Given the description of an element on the screen output the (x, y) to click on. 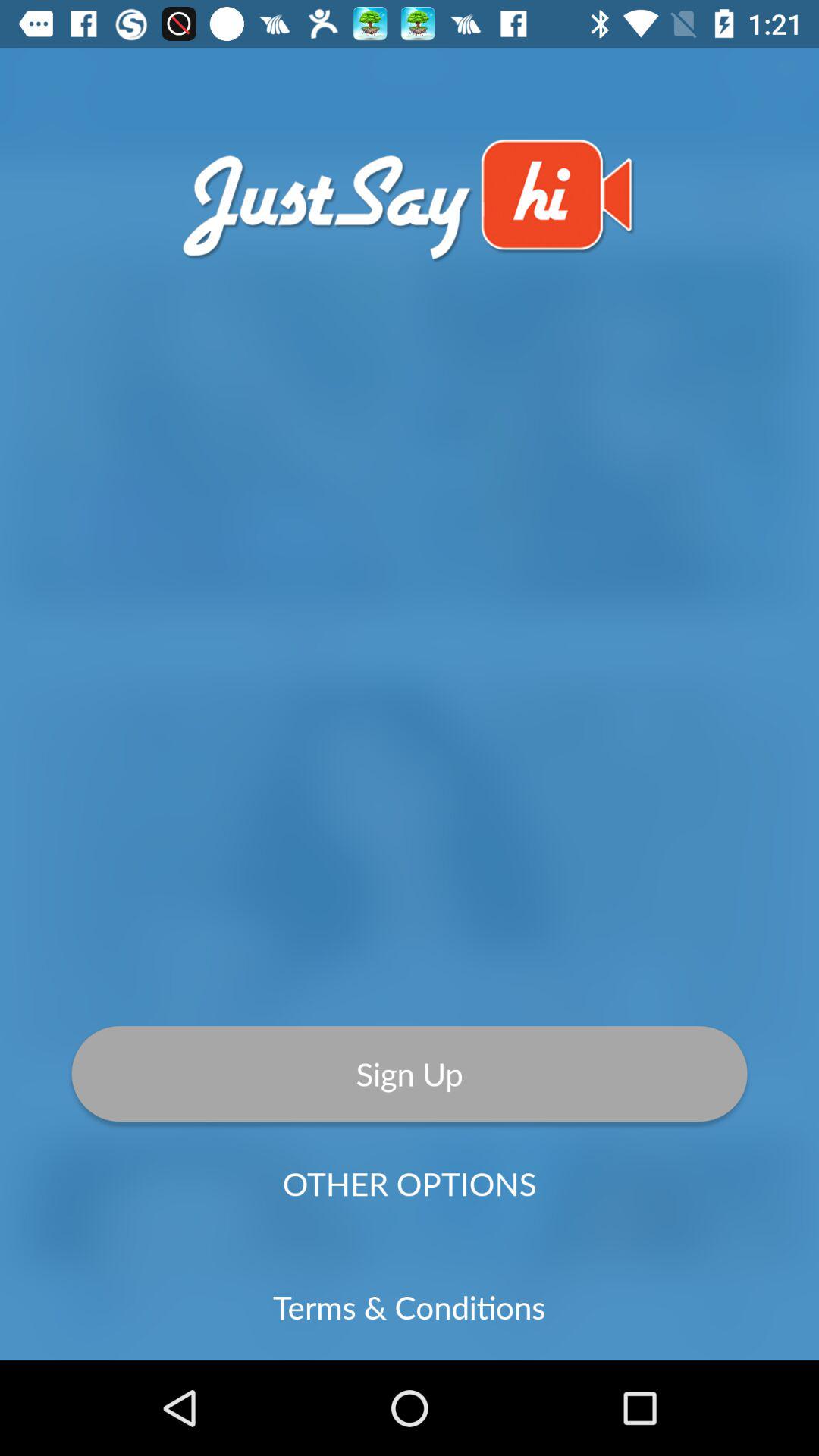
scroll to the other options (409, 1183)
